Given the description of an element on the screen output the (x, y) to click on. 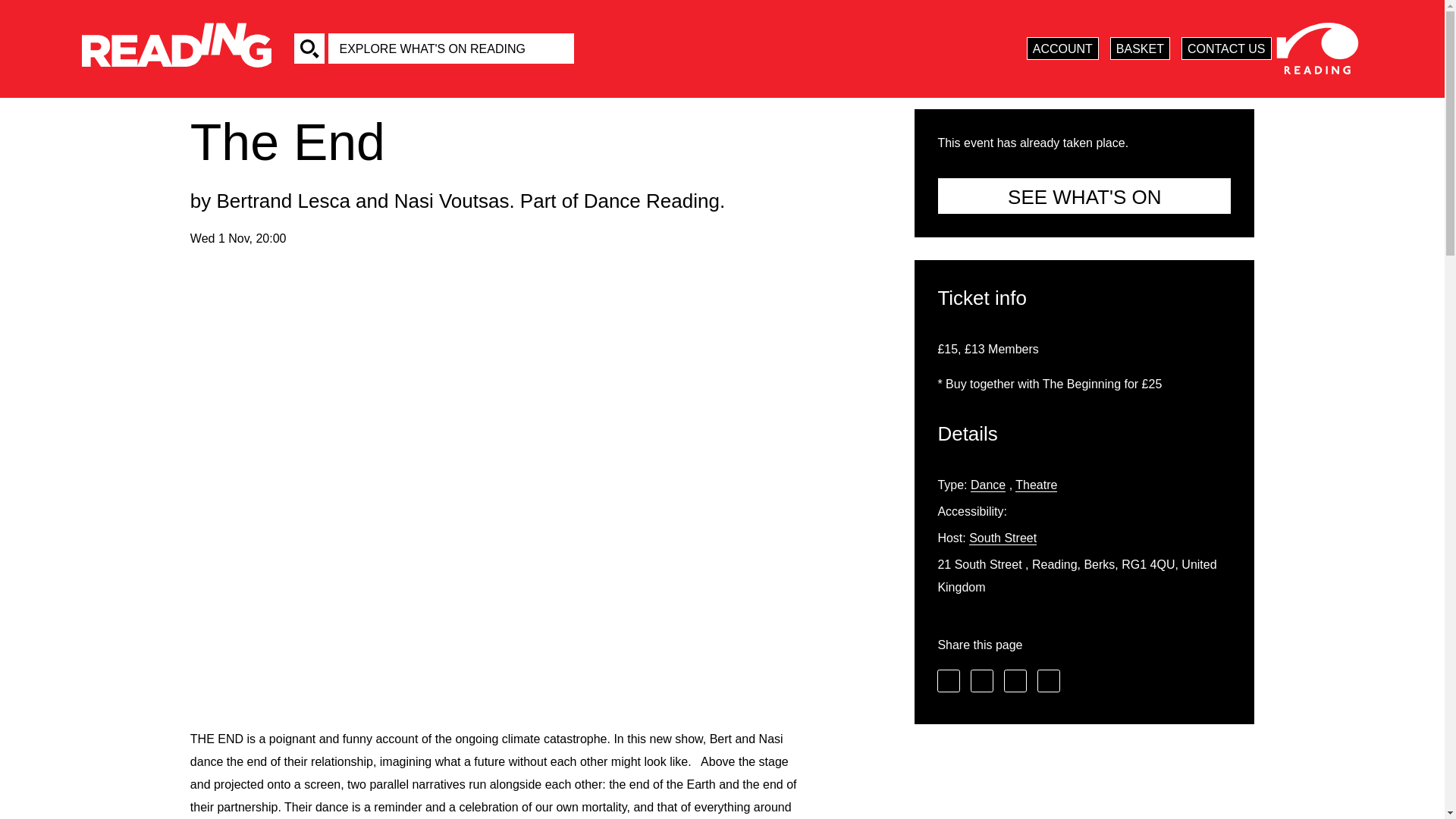
South Street (1002, 538)
ACCOUNT (1062, 47)
CONTACT US (1225, 47)
Dance (988, 485)
Search (309, 48)
Find out more about South Street (1002, 538)
SEE WHAT'S ON (1084, 195)
Theatre (1035, 485)
See What's On (1084, 195)
BASKET (1139, 47)
